Given the description of an element on the screen output the (x, y) to click on. 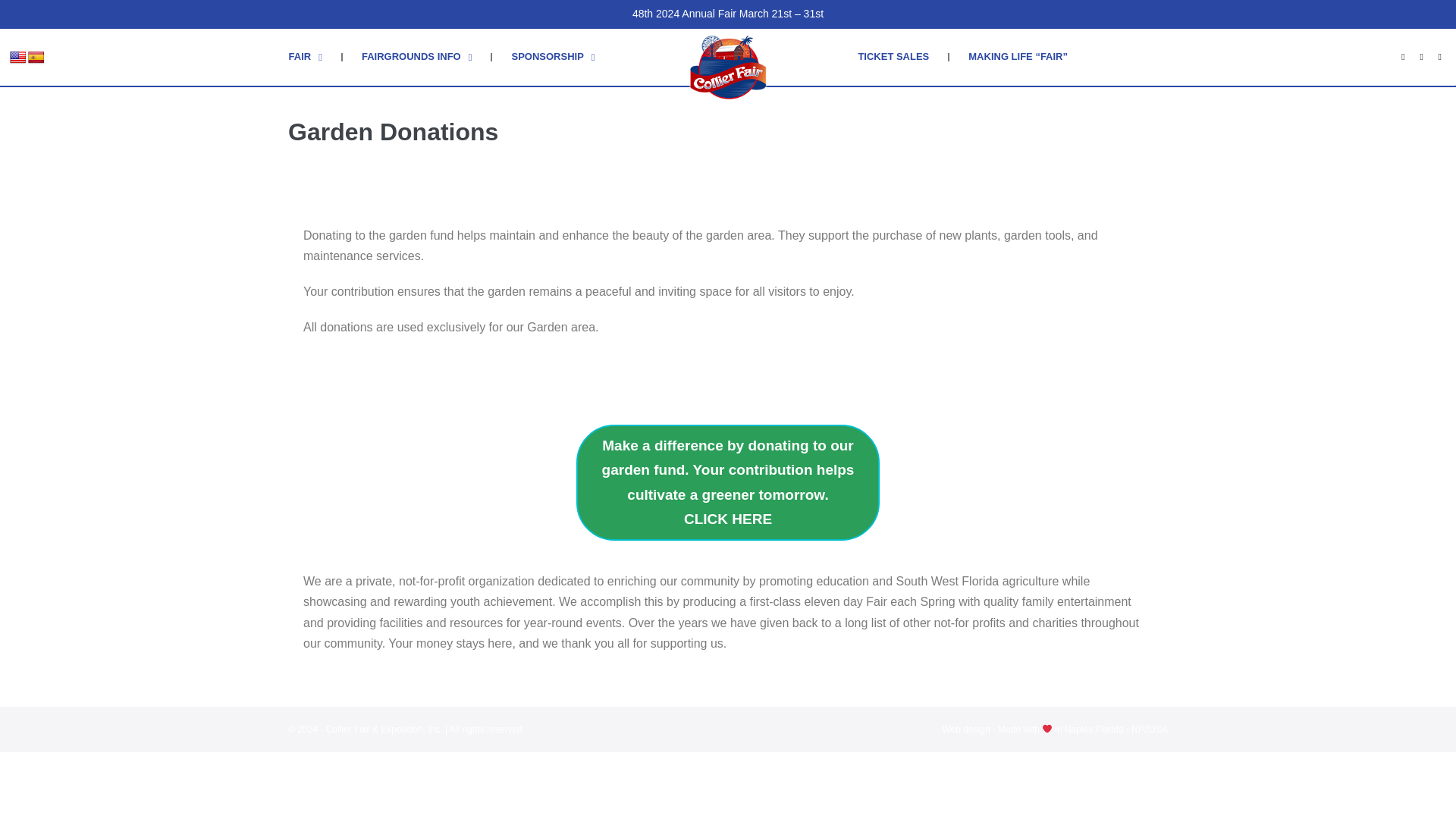
FAIRGROUNDS INFO (416, 56)
Spanish (36, 57)
FAIR (304, 56)
English (18, 57)
SPONSORSHIP (552, 56)
